Given the description of an element on the screen output the (x, y) to click on. 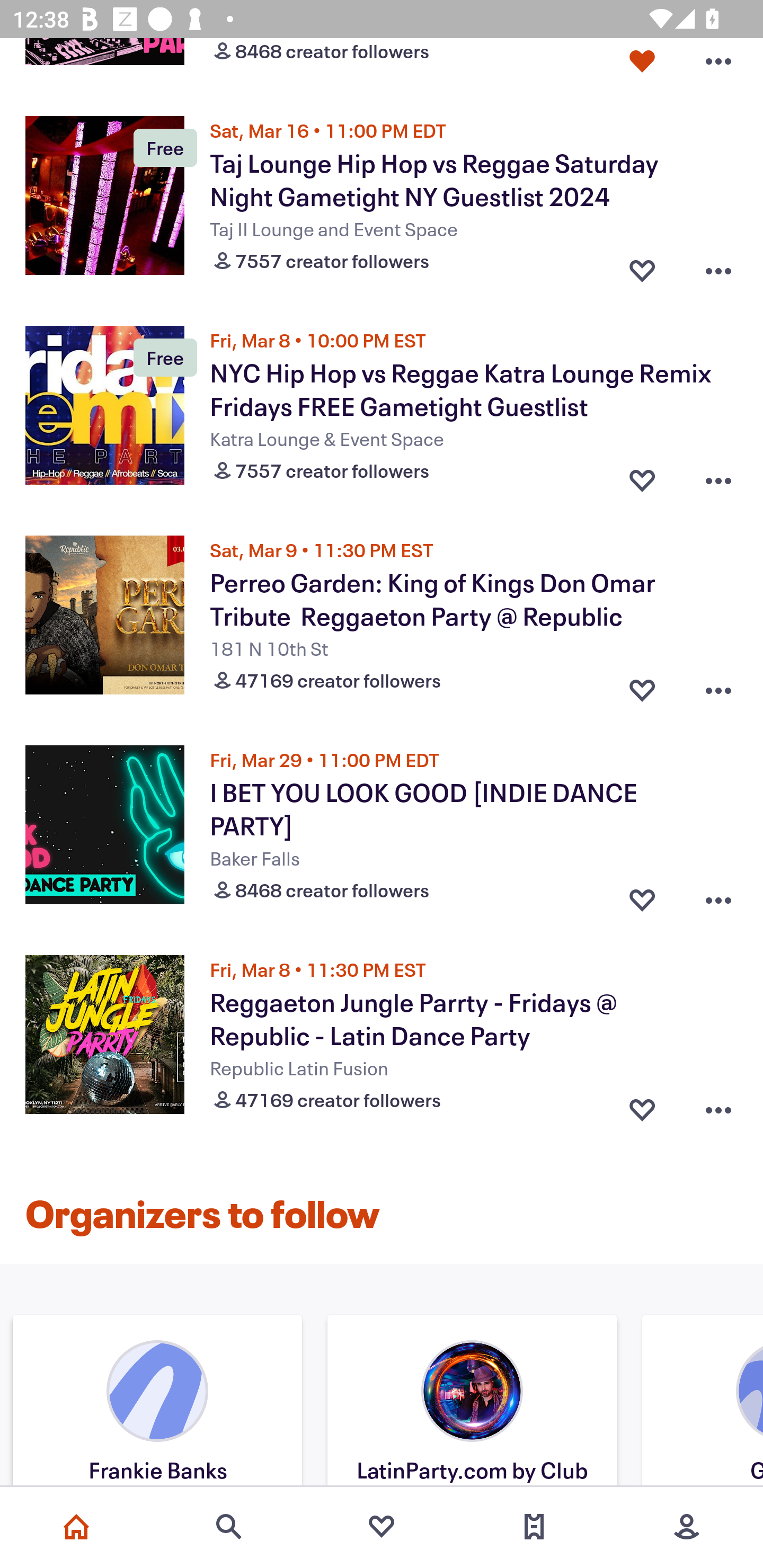
Favorite button (642, 63)
Overflow menu button (718, 63)
Favorite button (642, 267)
Overflow menu button (718, 267)
Favorite button (642, 475)
Overflow menu button (718, 475)
Favorite button (642, 685)
Overflow menu button (718, 685)
Favorite button (642, 895)
Overflow menu button (718, 895)
Favorite button (642, 1105)
Overflow menu button (718, 1105)
Organizer's image Frankie Banks 2,614 followers (157, 1403)
Organizer's image LatinParty.com by Club Cache (471, 1403)
Home (76, 1526)
Search events (228, 1526)
Favorites (381, 1526)
Tickets (533, 1526)
More (686, 1526)
